Given the description of an element on the screen output the (x, y) to click on. 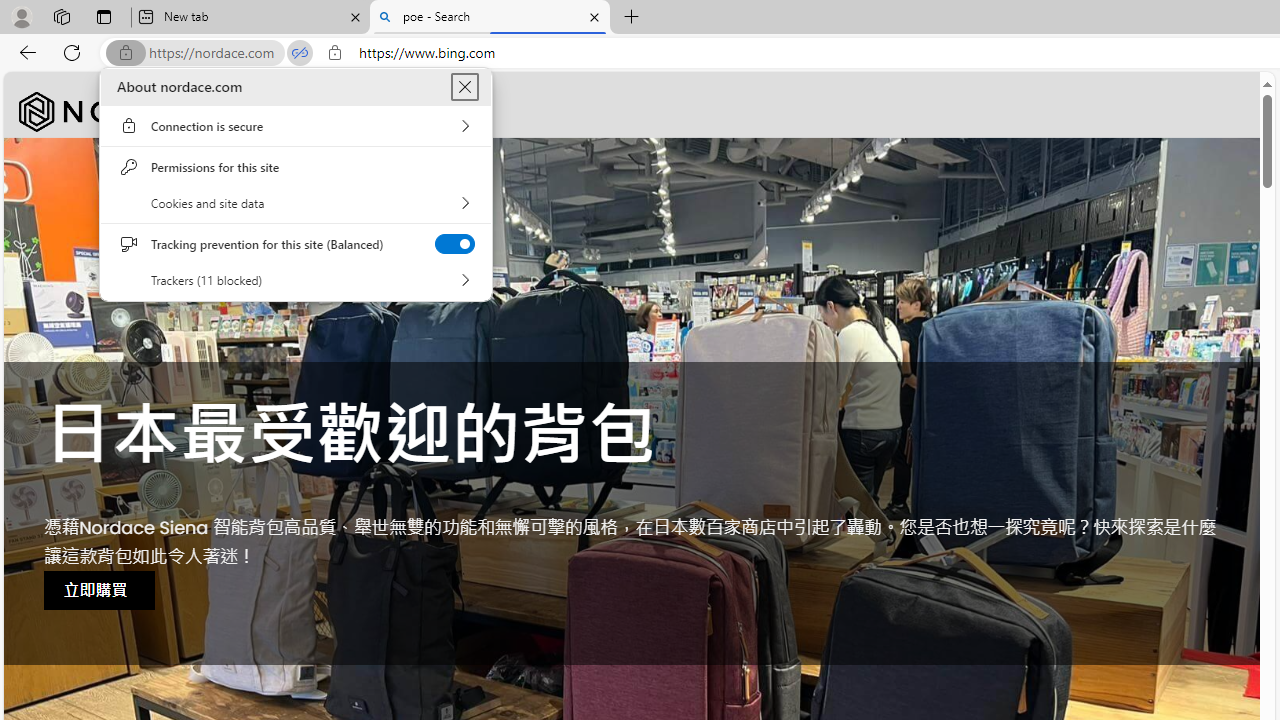
Tracking prevention for this site (Balanced) (454, 244)
Permissions for this site (296, 167)
About nordace.com (464, 86)
poe - Search (490, 17)
Connection is secure (296, 126)
Trackers (11 blocked) (296, 280)
